Given the description of an element on the screen output the (x, y) to click on. 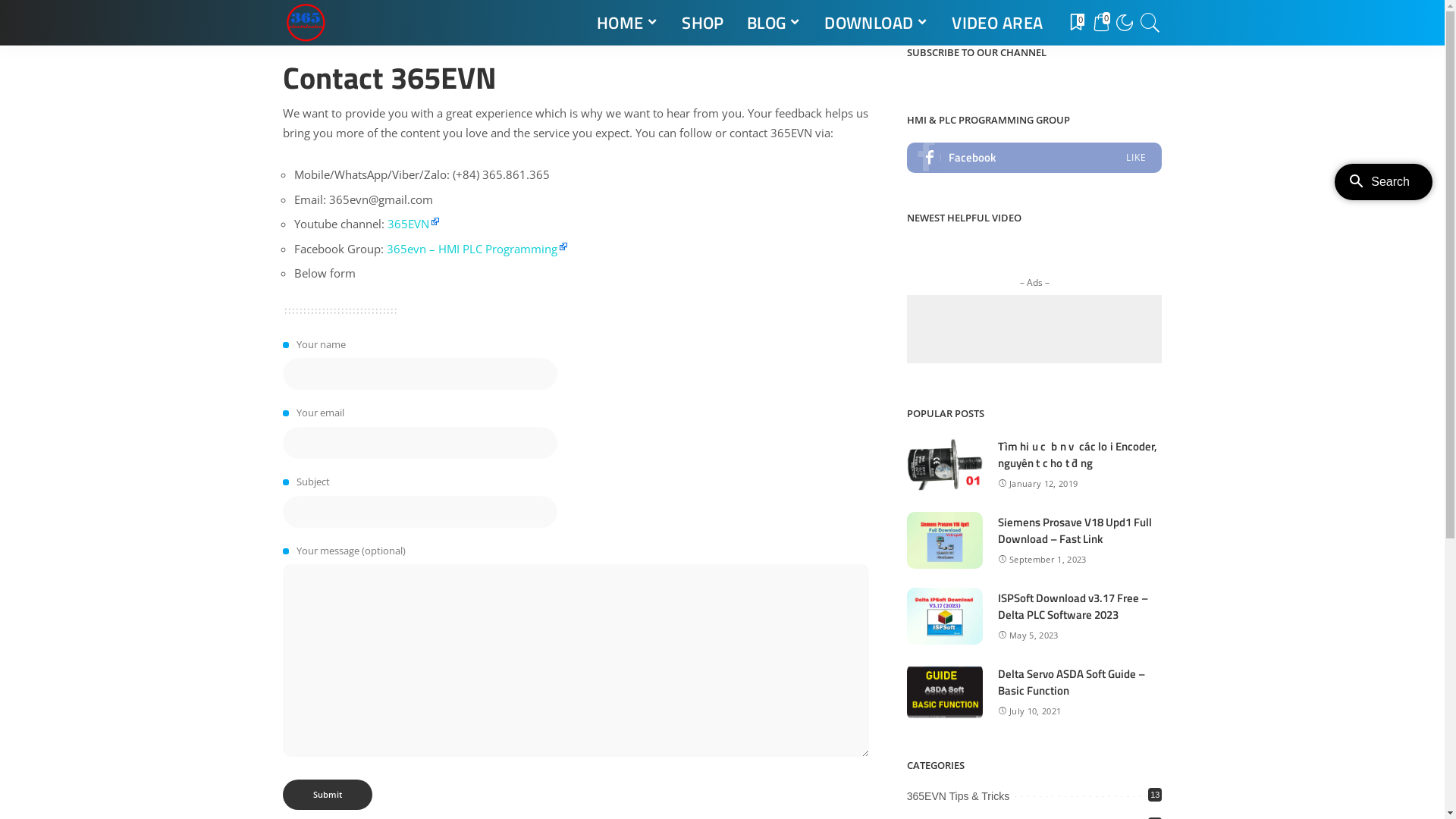
Siemens Prosave V18 Upd1 Full Download - Fast Link 6 Element type: hover (944, 539)
Facebook Element type: hover (1034, 157)
0 Element type: text (1075, 22)
BLOG Element type: text (773, 22)
Submit Element type: text (326, 794)
Delta Servo ASDA Soft Guide - Basic Function 12 Element type: hover (944, 691)
PLC Programming By 365EVN Element type: hover (304, 22)
Search Element type: text (1140, 65)
0 Element type: text (1100, 22)
VIDEO AREA Element type: text (997, 22)
365EVN Element type: text (412, 223)
HOME Element type: text (627, 22)
365EVN Tips & Tricks
13 Element type: text (957, 796)
SHOP Element type: text (702, 22)
DOWNLOAD Element type: text (876, 22)
